Given the description of an element on the screen output the (x, y) to click on. 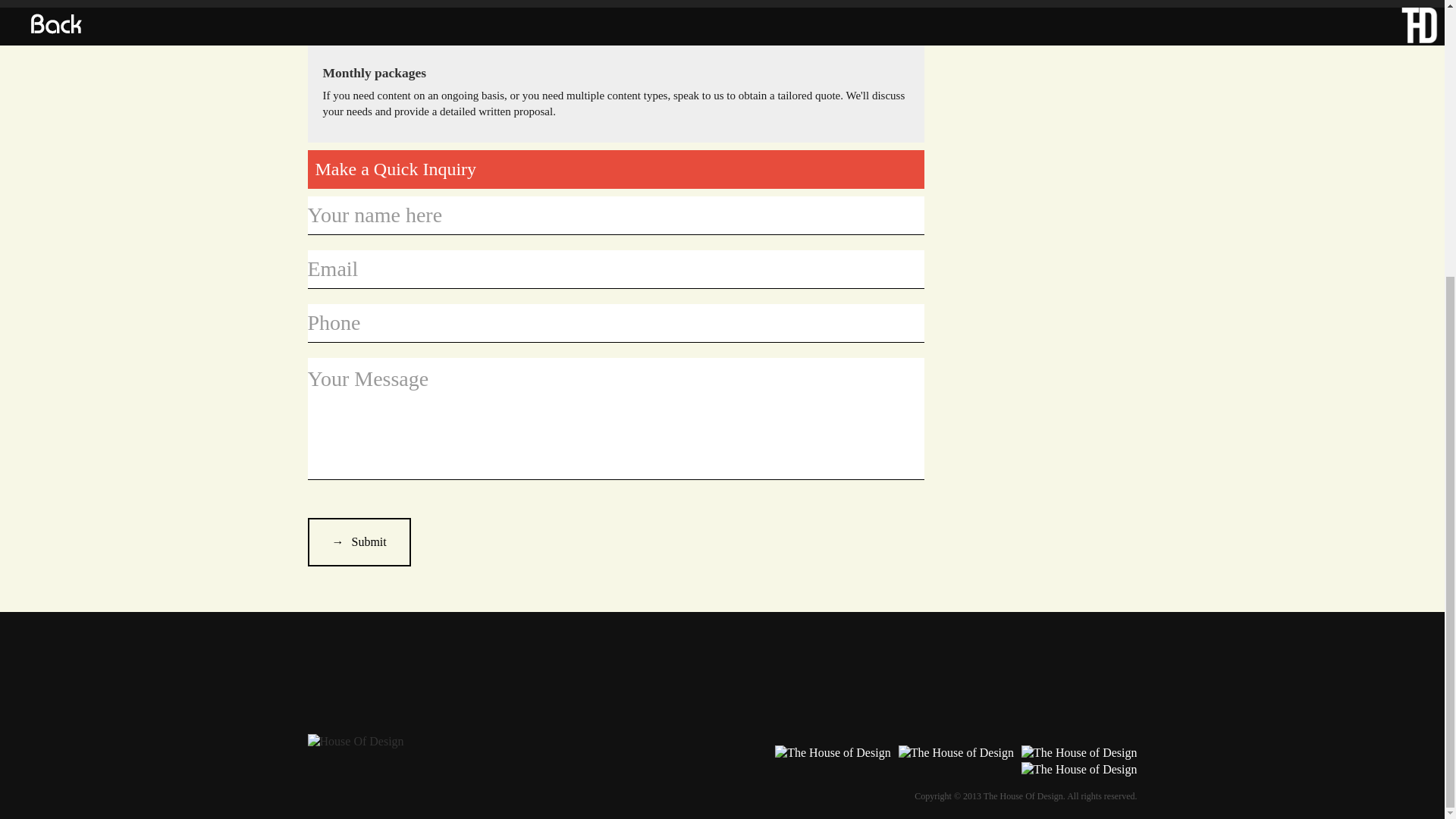
The House of Design (1079, 752)
Submit (358, 541)
The House of Design (955, 752)
The House of Design (831, 752)
House Of Design (355, 741)
The House of Design (1079, 769)
